Given the description of an element on the screen output the (x, y) to click on. 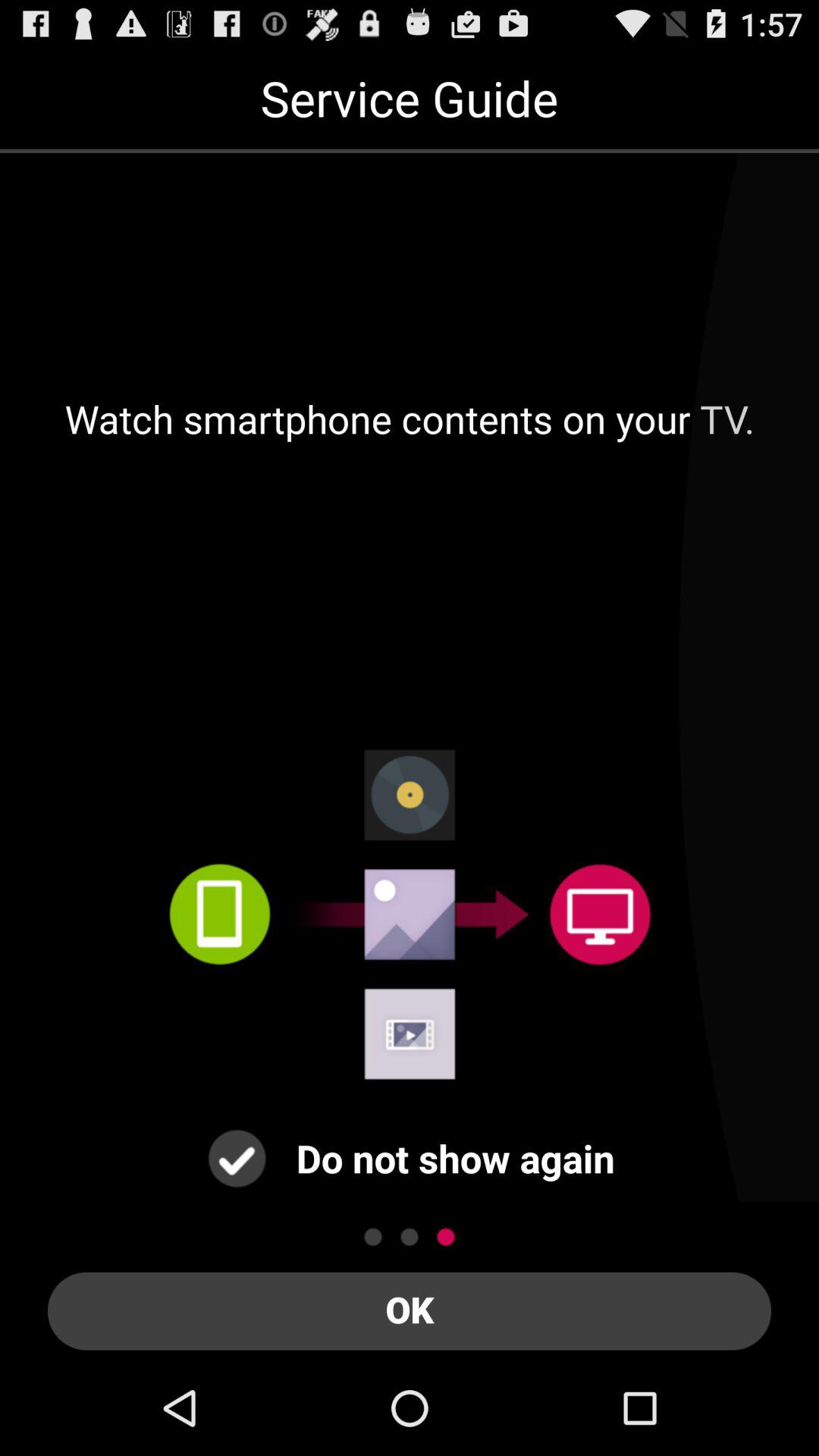
flip until ok icon (409, 1311)
